Given the description of an element on the screen output the (x, y) to click on. 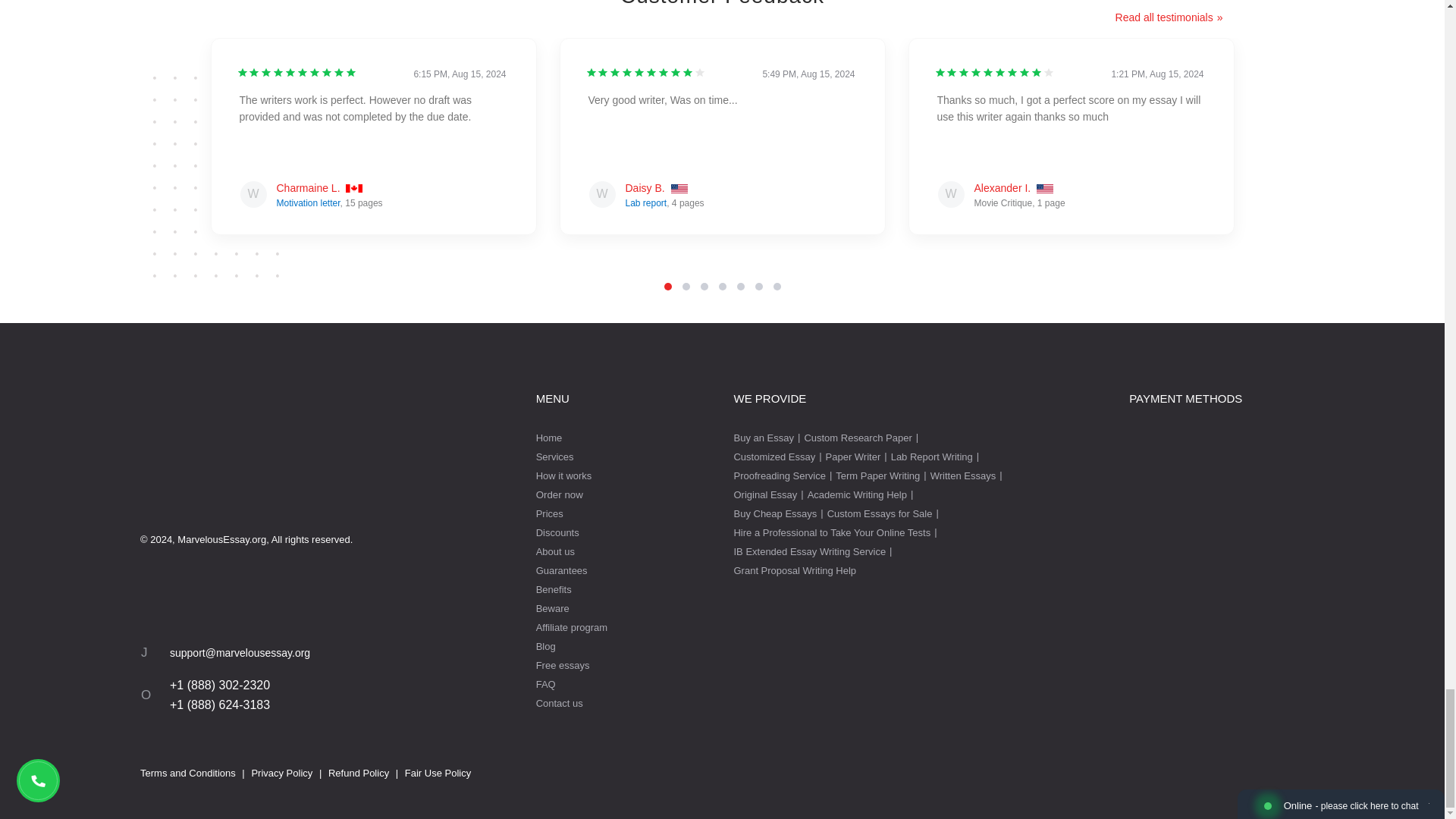
USA (679, 189)
USA (1044, 189)
Canada (354, 189)
